Given the description of an element on the screen output the (x, y) to click on. 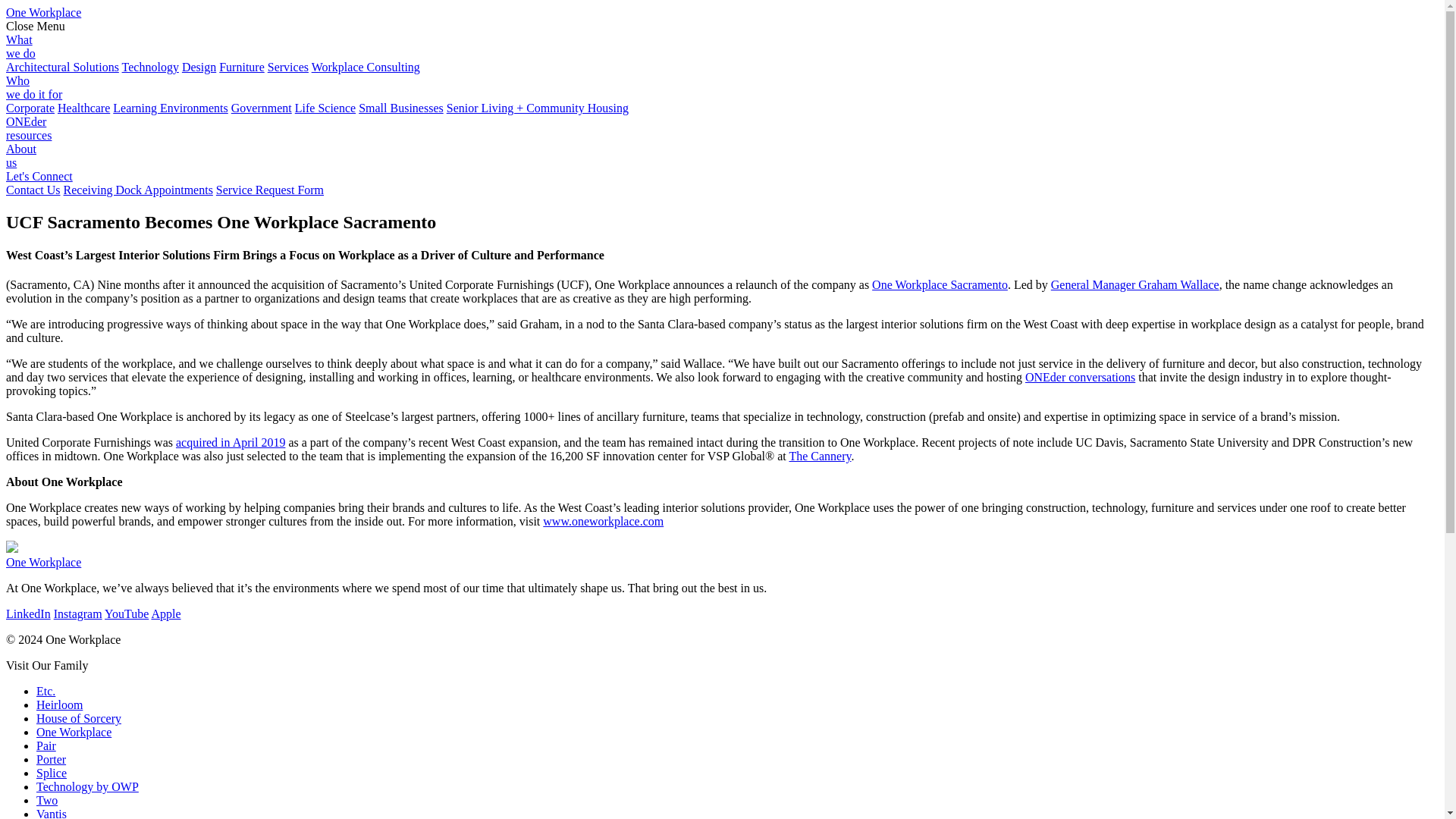
acquired in April 2019 (230, 441)
One Workplace (43, 562)
Contact Us (33, 189)
Heirloom (59, 704)
Corporate (30, 107)
Workplace Consulting (365, 66)
Instagram (77, 613)
Small Businesses (401, 107)
Government (261, 107)
One Workplace (74, 731)
